Given the description of an element on the screen output the (x, y) to click on. 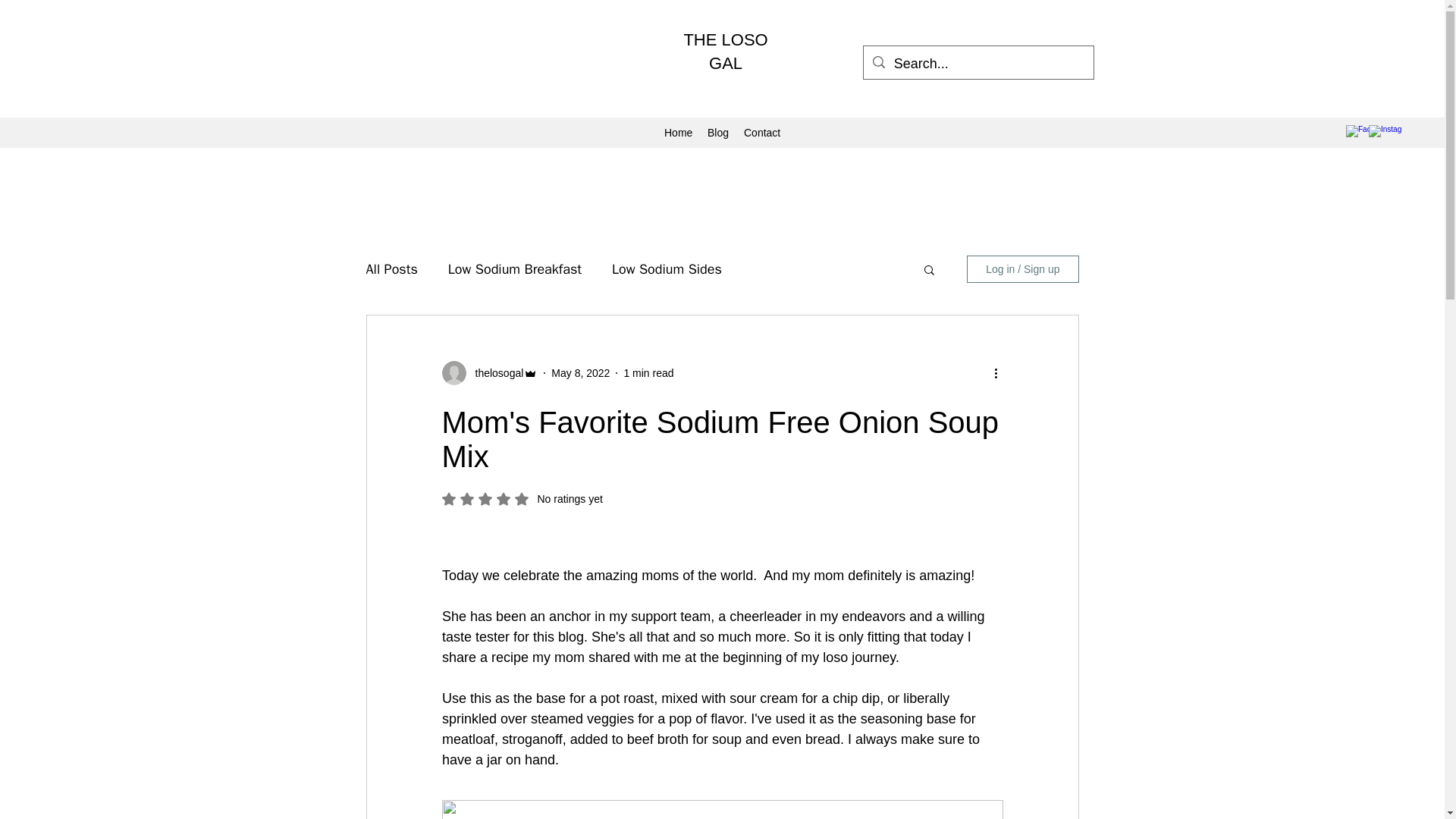
May 8, 2022 (580, 372)
thelosogal (521, 499)
Low Sodium Breakfast (493, 373)
THE LOSO GAL (514, 269)
All Posts (724, 51)
Contact (390, 269)
Home (761, 132)
Low Sodium Sides (678, 132)
1 min read (666, 269)
